Given the description of an element on the screen output the (x, y) to click on. 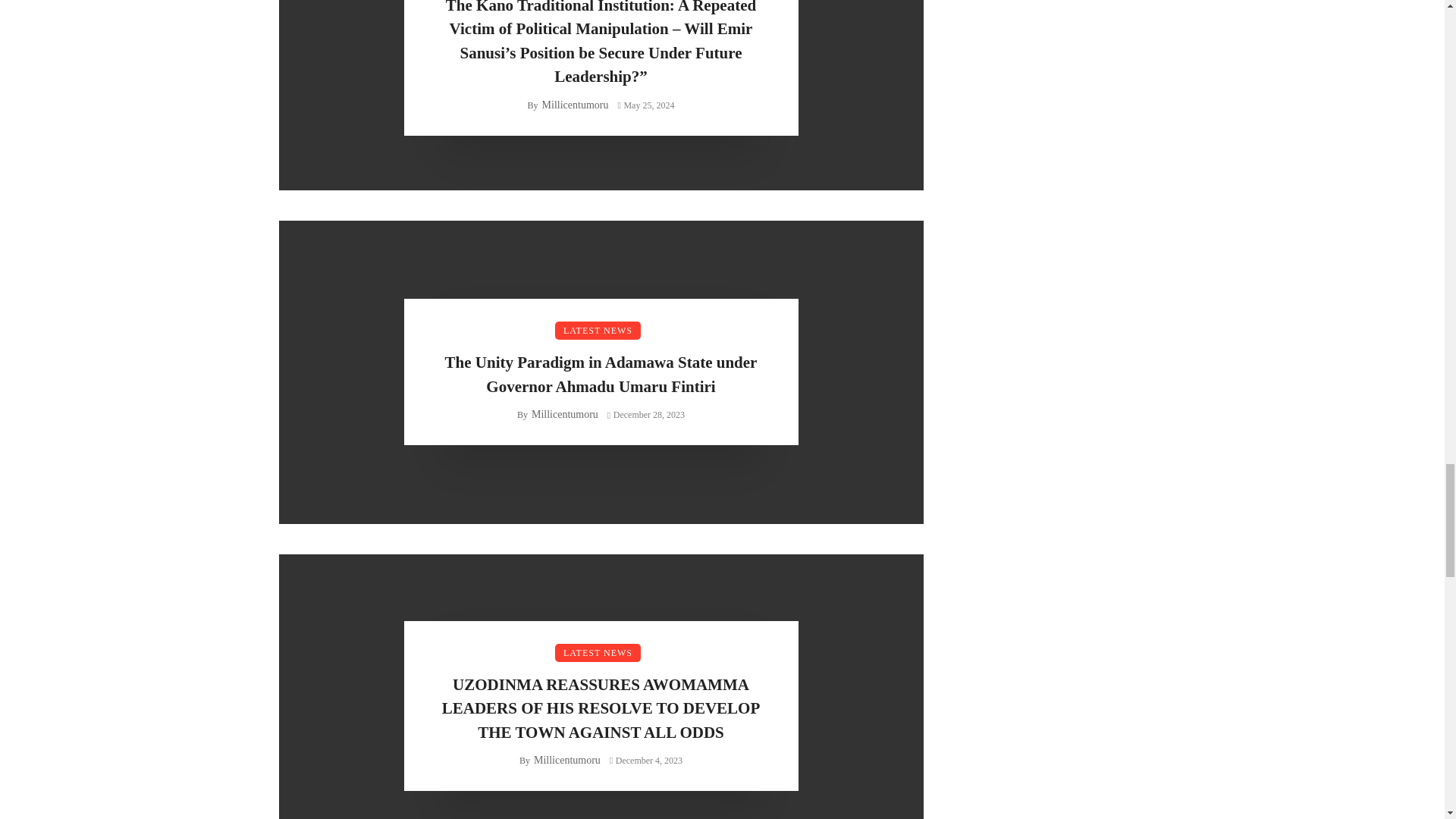
Millicentumoru (574, 104)
